Given the description of an element on the screen output the (x, y) to click on. 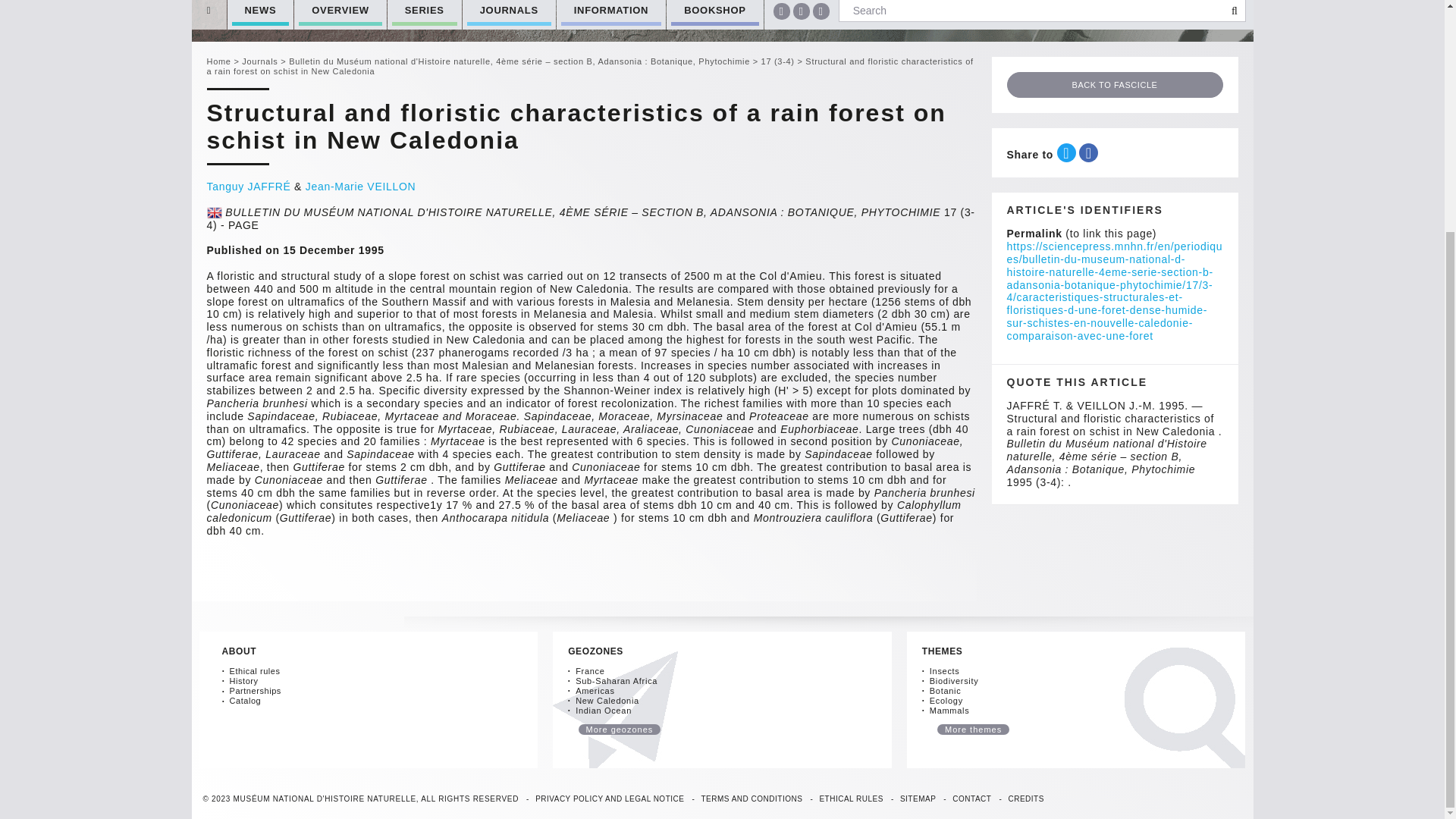
Series (424, 14)
NEWS (260, 14)
JOURNALS (509, 14)
Overview (339, 14)
Bookshop (714, 14)
SERIES (424, 14)
News (260, 14)
Facebook (781, 11)
Click to Tweet (1066, 152)
Jean-Marie VEILLON (360, 186)
Twitter (801, 11)
OVERVIEW (339, 14)
Information (610, 14)
RSS (820, 11)
Journals (509, 14)
